Given the description of an element on the screen output the (x, y) to click on. 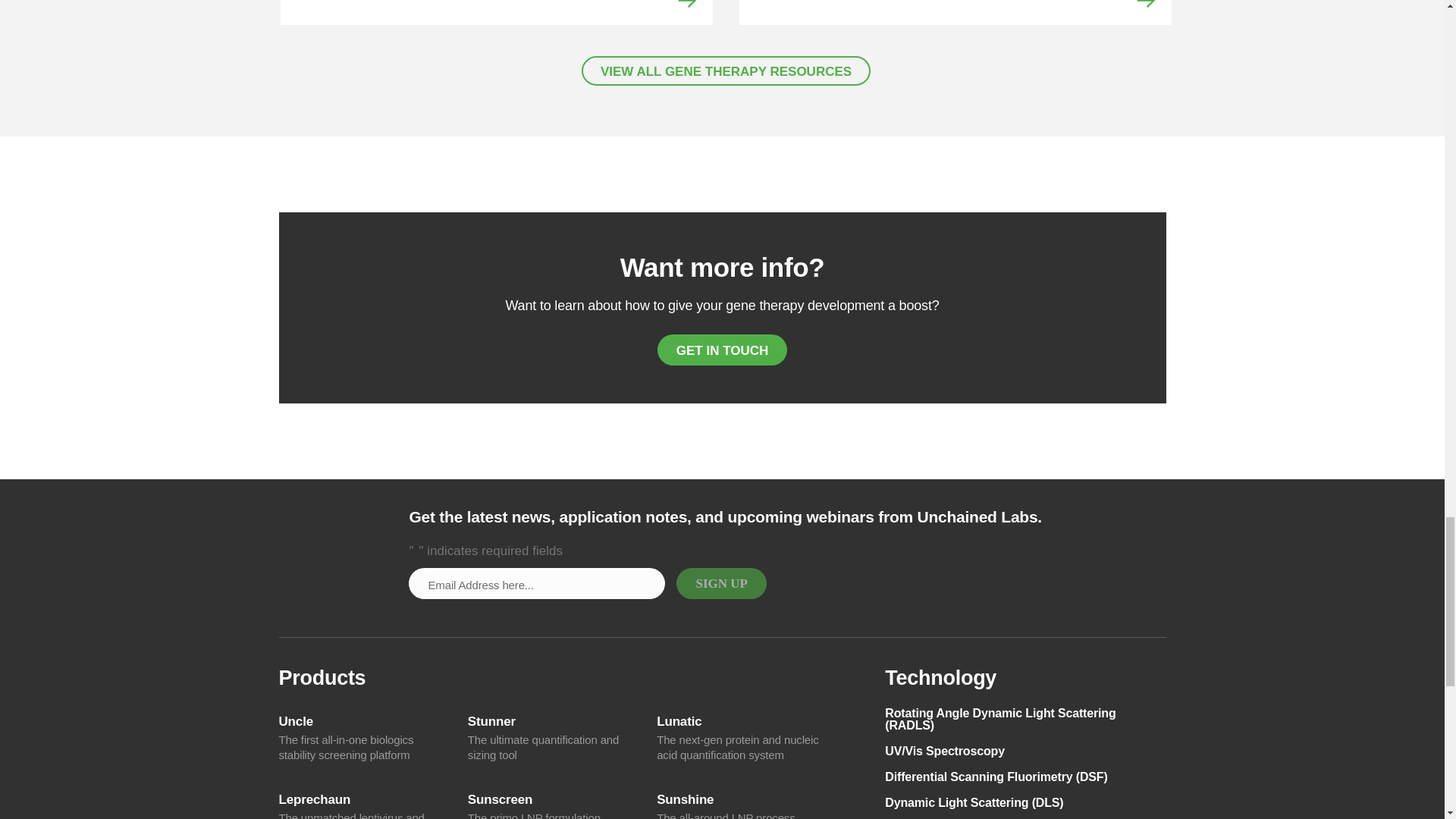
Sign up (721, 583)
-g-logo (330, 539)
